Given the description of an element on the screen output the (x, y) to click on. 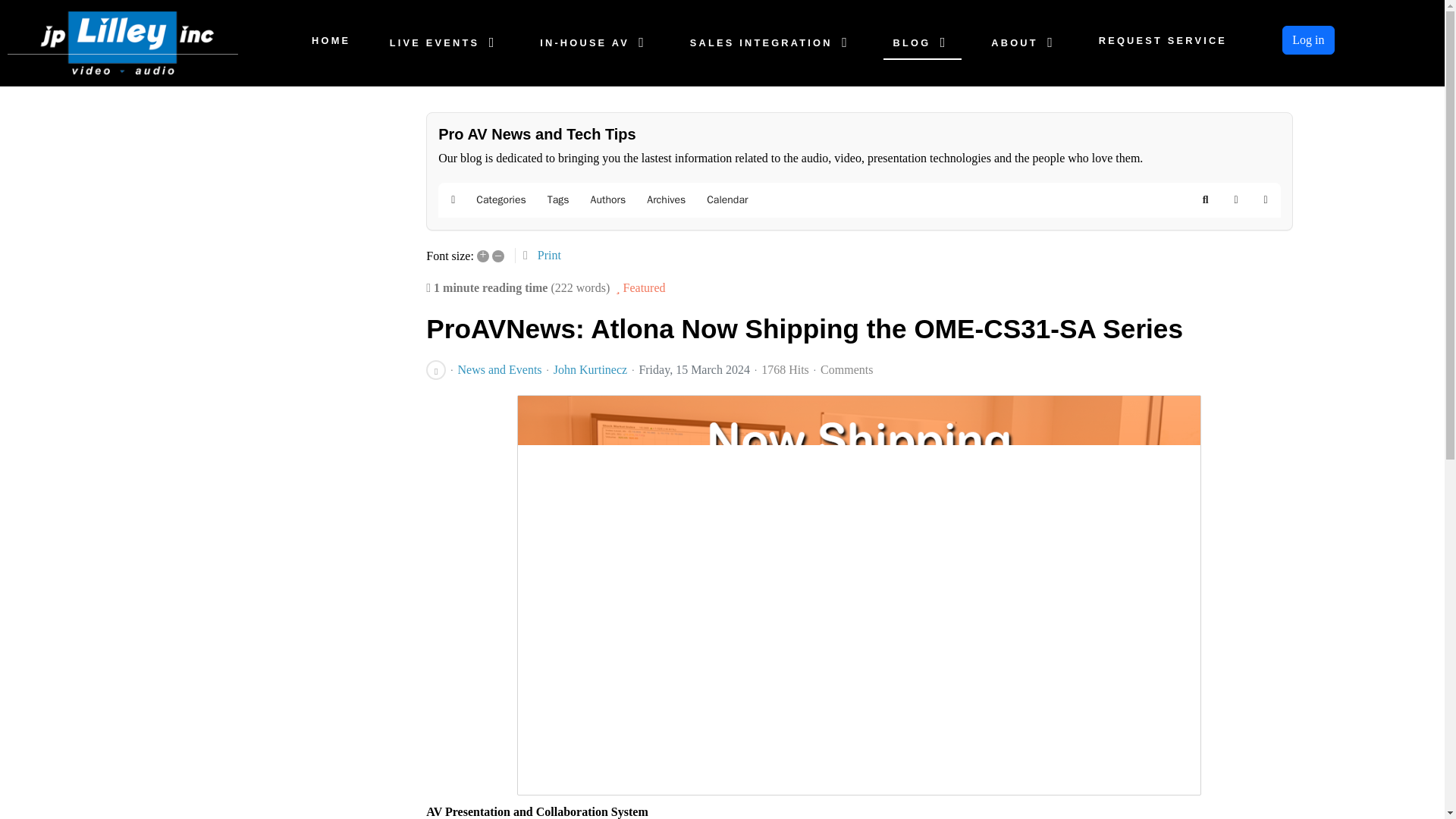
Authors (608, 199)
Print (548, 254)
Categories (500, 199)
Archives (666, 199)
IN-HOUSE AV (596, 42)
SALES INTEGRATION (771, 42)
clarity (122, 42)
HOME (330, 40)
Calendar (727, 199)
LIVE EVENTS (445, 42)
